Given the description of an element on the screen output the (x, y) to click on. 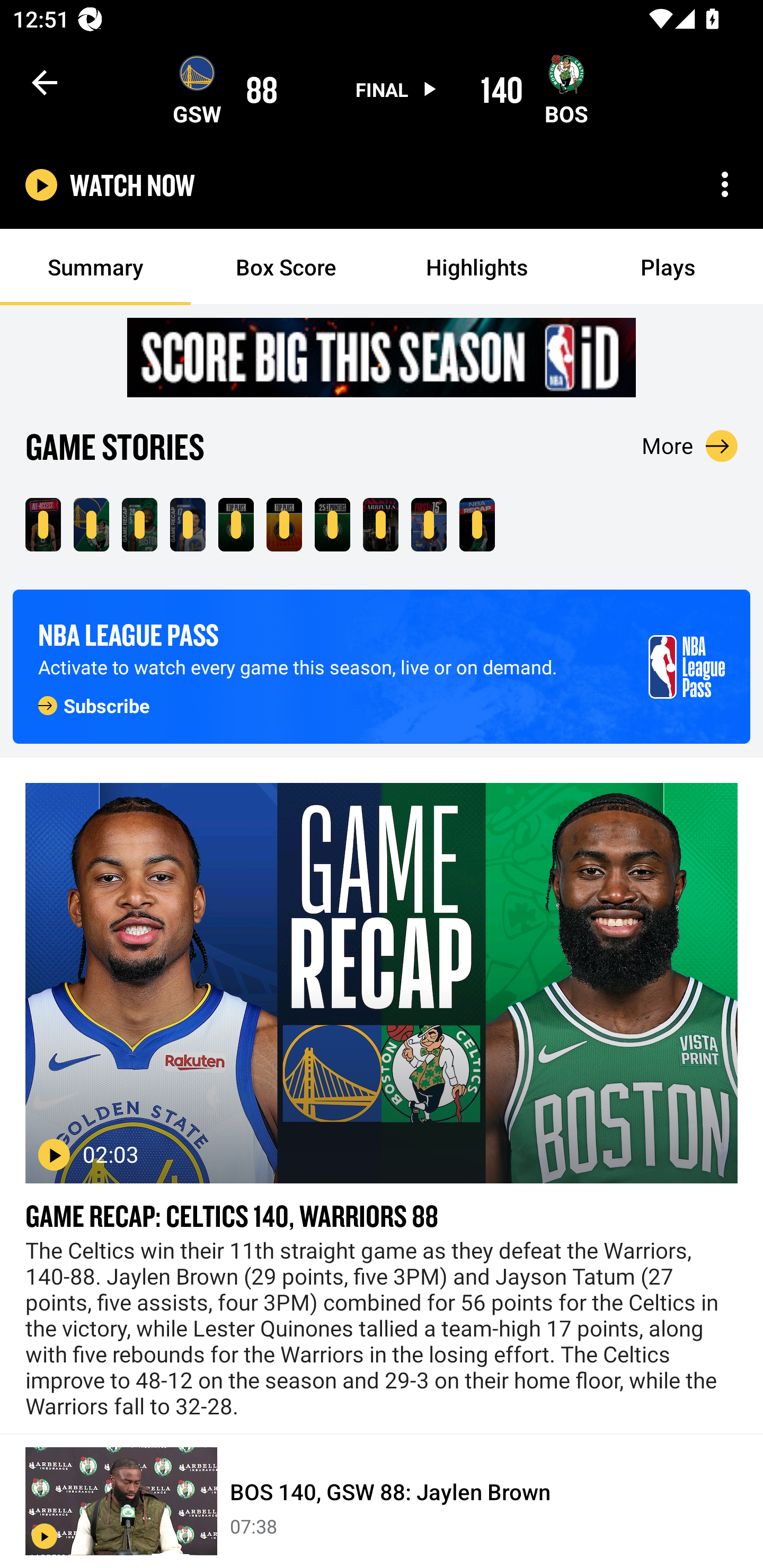
Navigate up (44, 82)
More options (724, 183)
WATCH NOW (132, 184)
Box Score (285, 266)
Highlights (476, 266)
Plays (667, 266)
More (689, 445)
Warriors And Celtics Clash At TD Garden 🍀 NEW (43, 524)
BOS 140, GSW 88 - Mar 3 NEW (91, 524)
Highlights From Jaylen Brown's 29-Point Game NEW (139, 524)
Highlights From Lester Quinones' 17-Point Game NEW (187, 524)
BOS' Top Plays from GSW vs. BOS NEW (236, 524)
GSW's Top Plays from GSW vs. BOS NEW (284, 524)
All 3-pointers from BOS' 25 3-pointer Night NEW (332, 524)
Steppin' Into Sunday 🔥 NEW (380, 524)
First To 15, Mar. 3rd NEW (428, 524)
Sunday's Recap NEW (477, 524)
BOS 140, GSW 88: Jaylen Brown 07:38 (381, 1501)
